Given the description of an element on the screen output the (x, y) to click on. 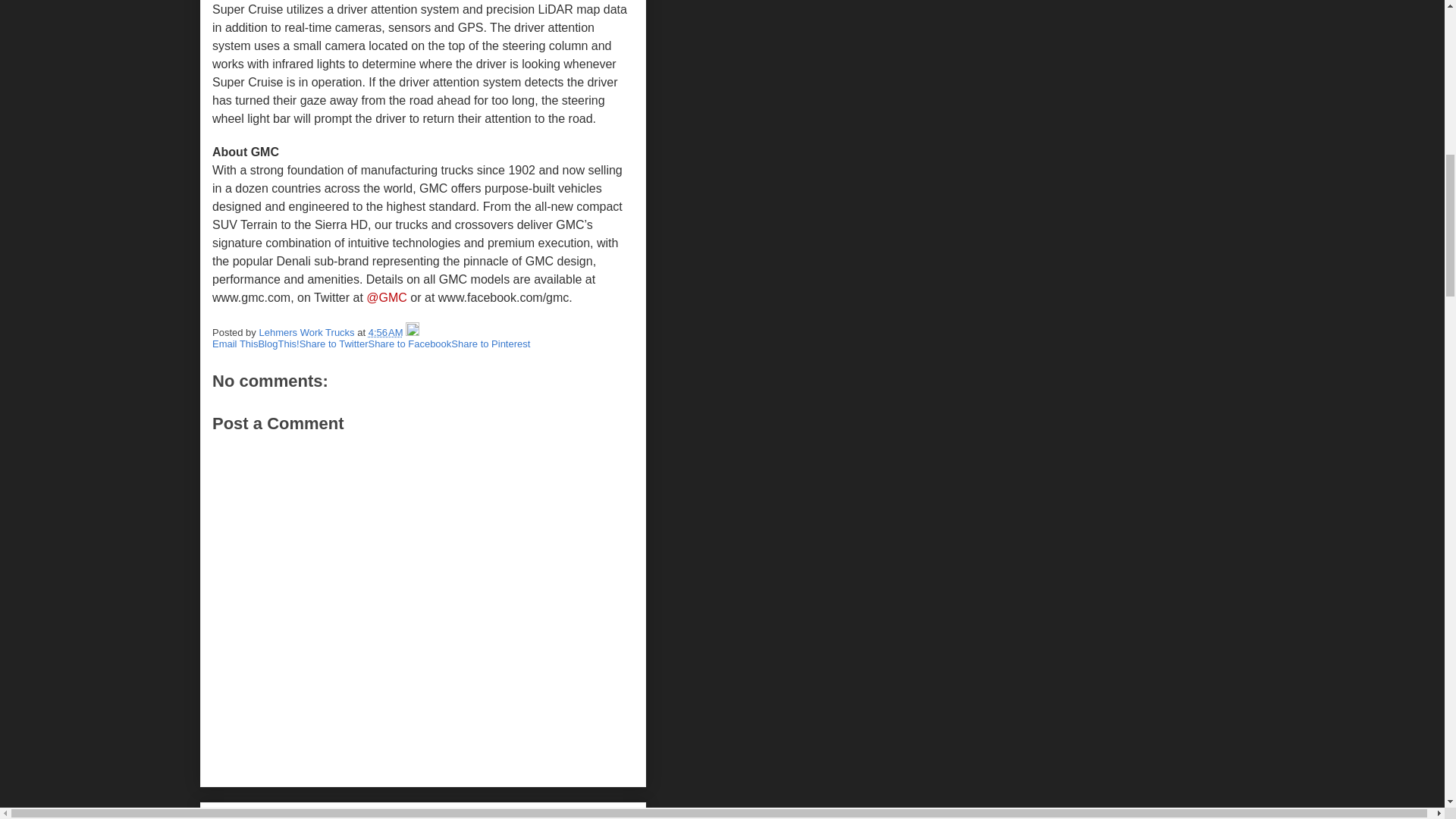
Newer Post (242, 816)
Share to Twitter (333, 343)
Share to Facebook (409, 343)
Older Post (304, 816)
Share to Facebook (409, 343)
BlogThis! (277, 343)
Email This (234, 343)
Lehmers Work Trucks (307, 332)
Home (352, 816)
BlogThis! (277, 343)
Email This (234, 343)
Newer Post (242, 816)
Older Post (304, 816)
permanent link (385, 332)
